Given the description of an element on the screen output the (x, y) to click on. 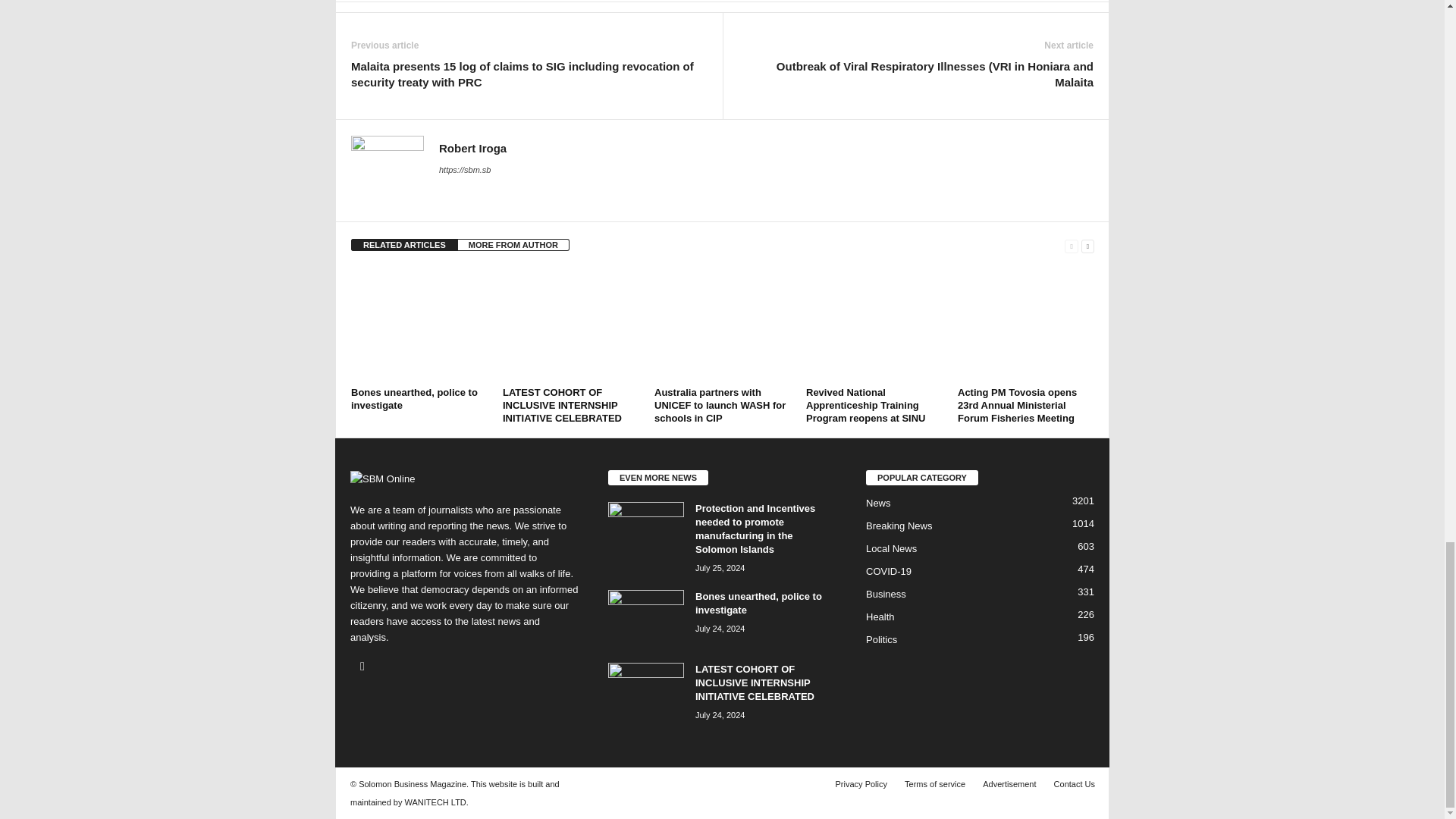
Bones unearthed, police to investigate (418, 324)
LATEST COHORT OF INCLUSIVE INTERNSHIP INITIATIVE CELEBRATED (570, 324)
Bones unearthed, police to investigate (413, 398)
